Given the description of an element on the screen output the (x, y) to click on. 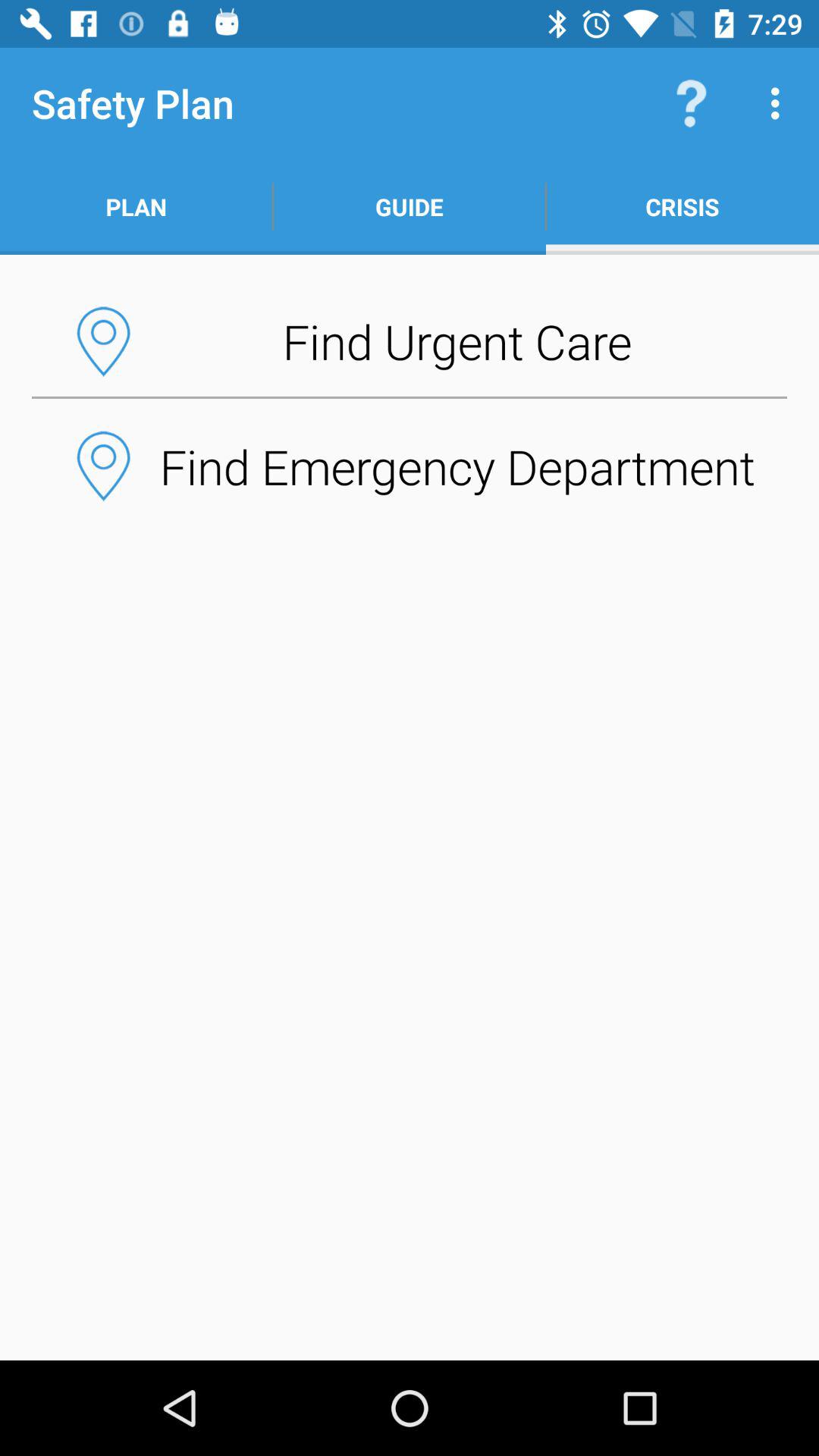
select the guide app (409, 206)
